Given the description of an element on the screen output the (x, y) to click on. 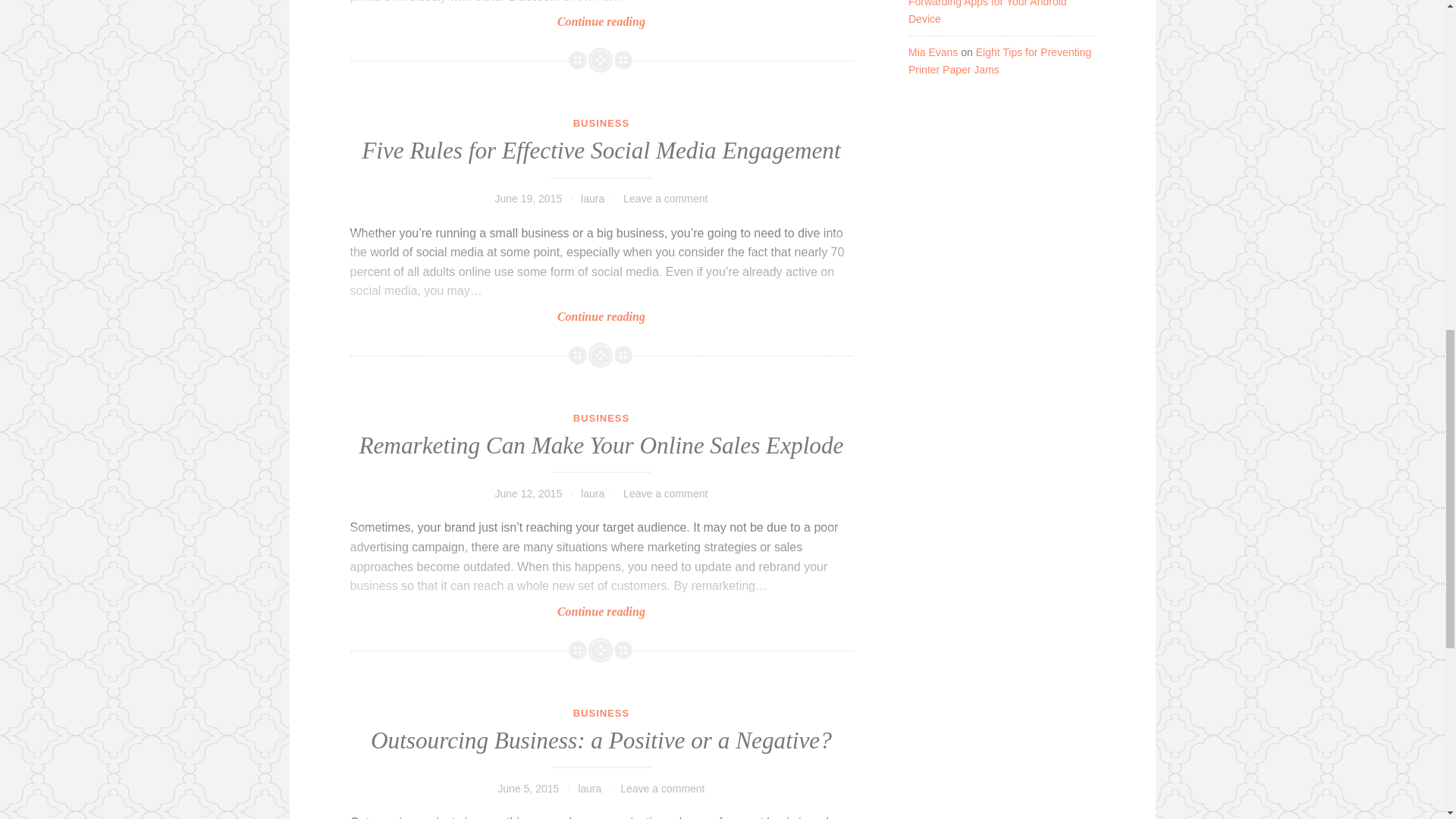
BUSINESS (600, 713)
June 19, 2015 (528, 198)
BUSINESS (600, 418)
laura (592, 198)
BUSINESS (600, 122)
laura (592, 493)
laura (589, 788)
June 12, 2015 (528, 493)
Remarketing Can Make Your Online Sales Explode (600, 445)
Leave a comment (662, 788)
Outsourcing Business: a Positive or a Negative? (601, 740)
Five Rules for Effective Social Media Engagement (600, 150)
